Given the description of an element on the screen output the (x, y) to click on. 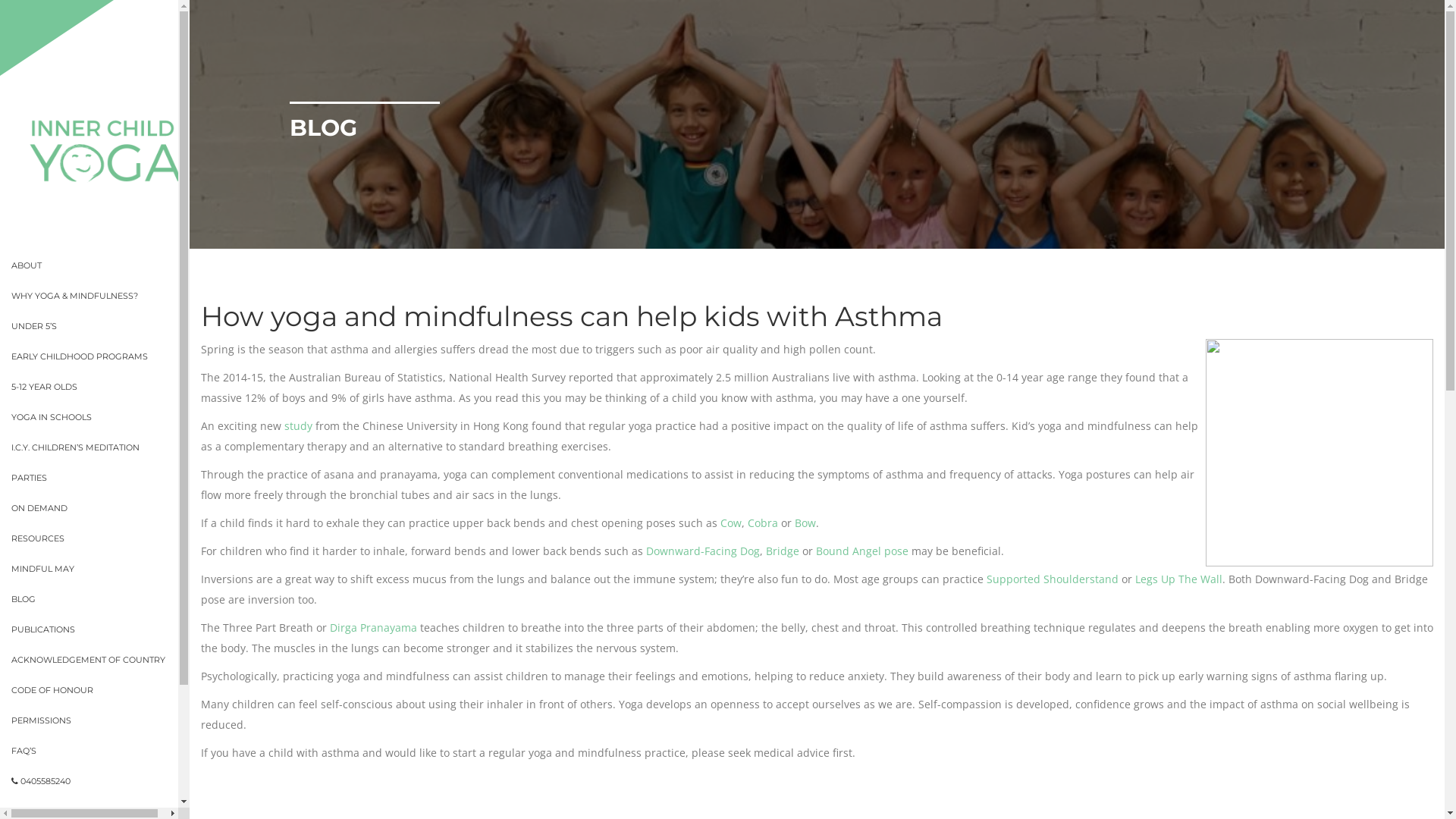
5-12 YEAR OLDS Element type: text (100, 386)
PARTIES Element type: text (100, 477)
Downward-Facing Dog Element type: text (702, 550)
Cow Element type: text (730, 522)
Dirga Pranayama Element type: text (373, 627)
0405585240 Element type: text (100, 780)
PUBLICATIONS Element type: text (100, 629)
RESOURCES Element type: text (100, 538)
YOGA IN SCHOOLS Element type: text (100, 416)
ACKNOWLEDGEMENT OF COUNTRY Element type: text (100, 659)
Legs Up The Wall Element type: text (1178, 578)
PERMISSIONS Element type: text (100, 720)
CODE OF HONOUR Element type: text (100, 689)
Cobra Element type: text (762, 522)
study Element type: text (298, 425)
Supported Shoulderstand Element type: text (1052, 578)
Bound Angel pose Element type: text (861, 550)
Bridge Element type: text (782, 550)
BLOG Element type: text (100, 598)
WHY YOGA & MINDFULNESS? Element type: text (100, 295)
ON DEMAND Element type: text (100, 507)
EARLY CHILDHOOD PROGRAMS Element type: text (100, 356)
MINDFUL MAY Element type: text (100, 568)
Bow Element type: text (804, 522)
ABOUT Element type: text (100, 265)
